Given the description of an element on the screen output the (x, y) to click on. 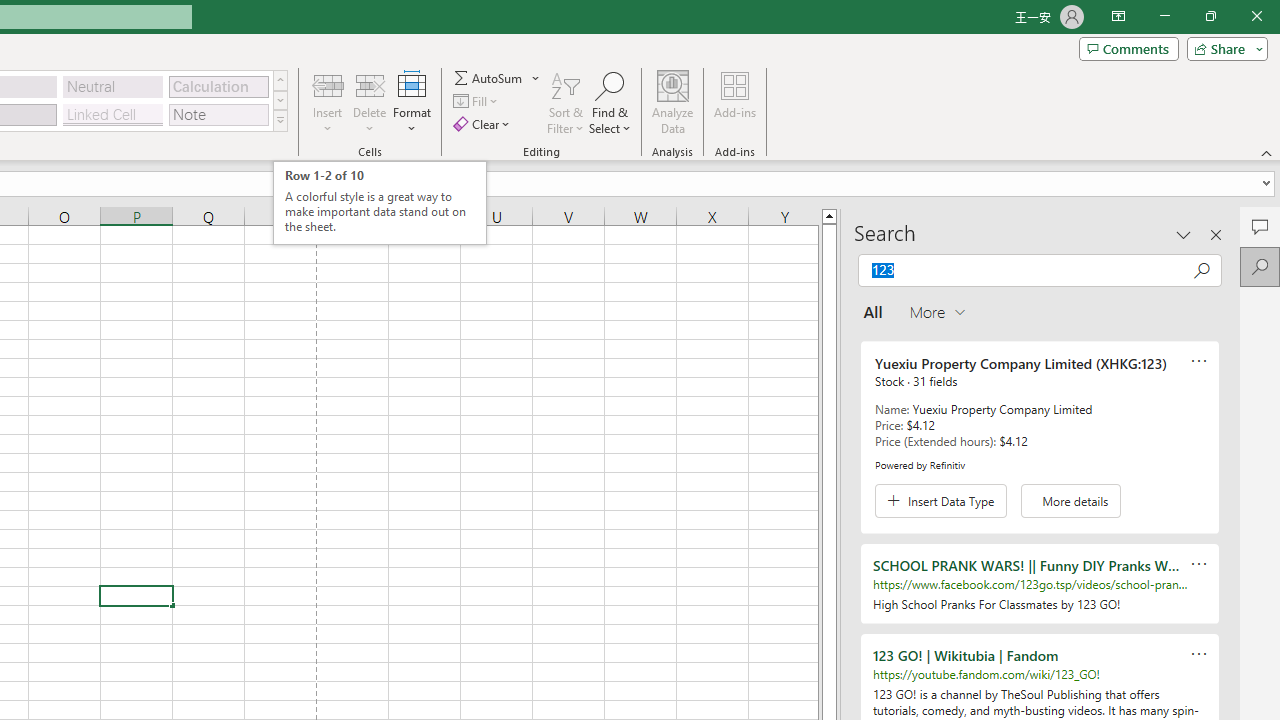
Neutral (113, 86)
Insert Cells (328, 84)
Cell Styles (280, 120)
Fill (477, 101)
